Given the description of an element on the screen output the (x, y) to click on. 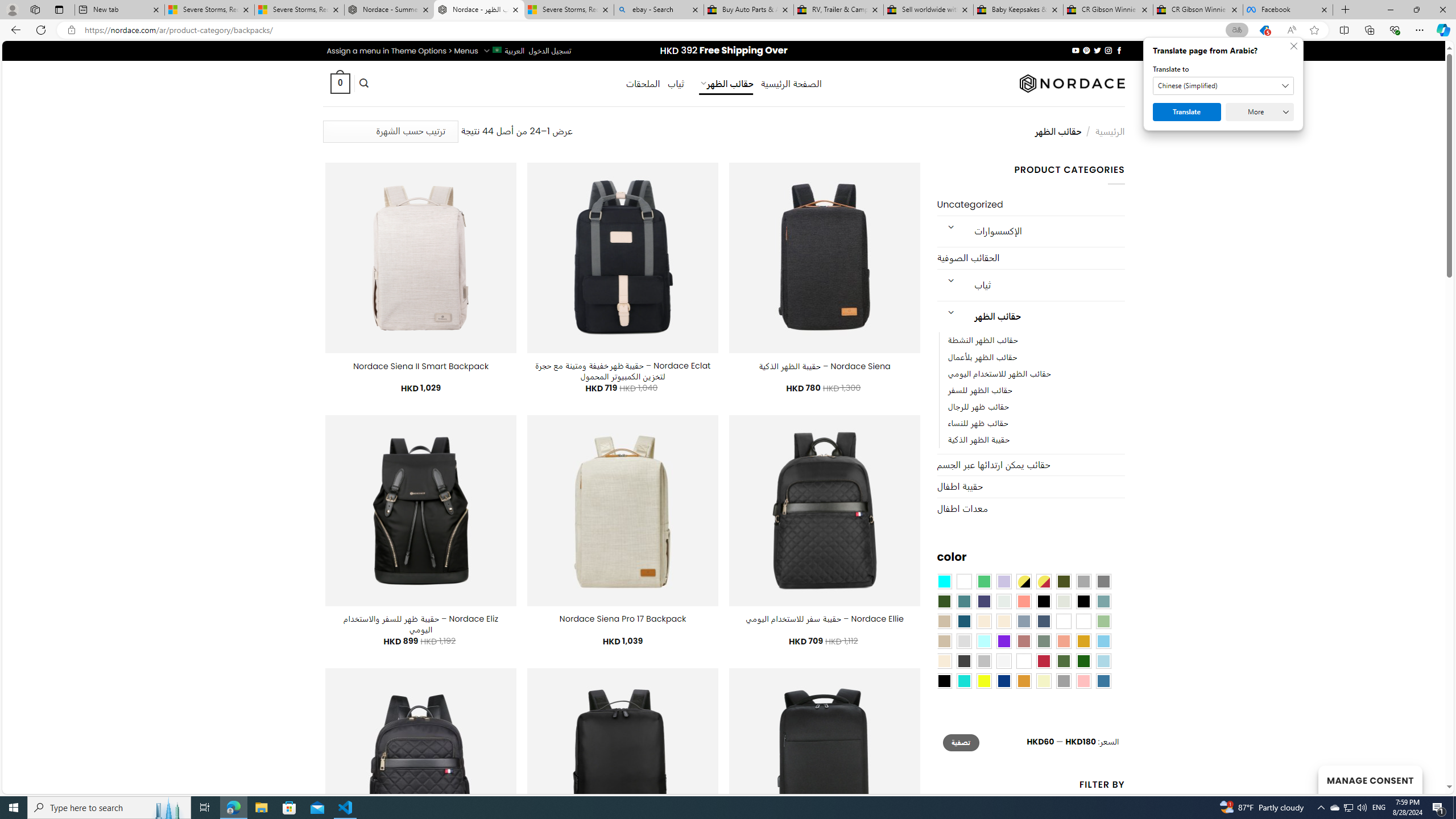
Translate (1187, 112)
Rose (1023, 640)
Aqua Blue (944, 581)
